Given the description of an element on the screen output the (x, y) to click on. 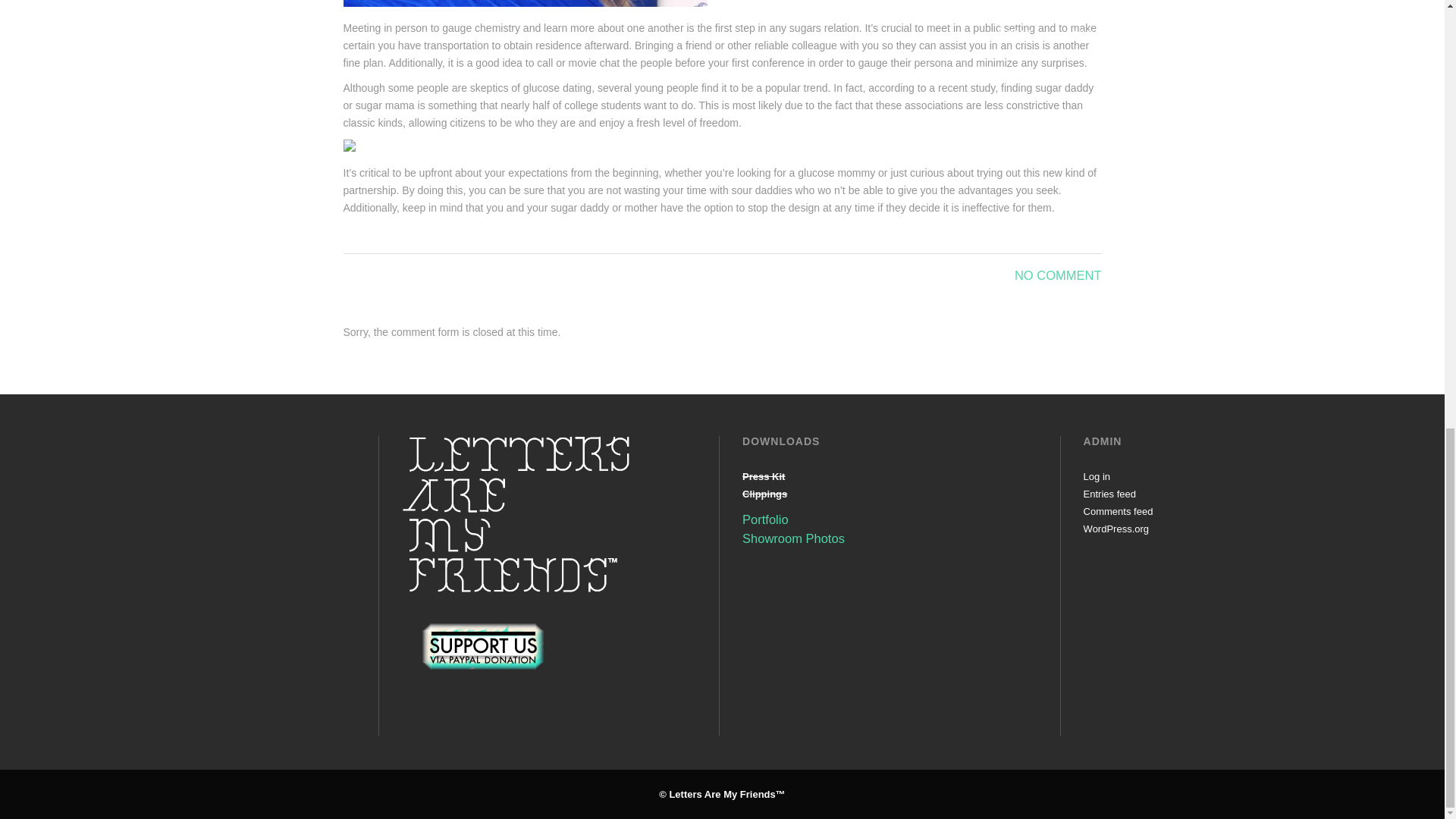
Portfolio (765, 519)
Entries feed (1109, 493)
Log in (1096, 476)
WordPress.org (1115, 528)
Showroom Photos (793, 538)
NO COMMENT (1058, 274)
Comments feed (1118, 511)
